Given the description of an element on the screen output the (x, y) to click on. 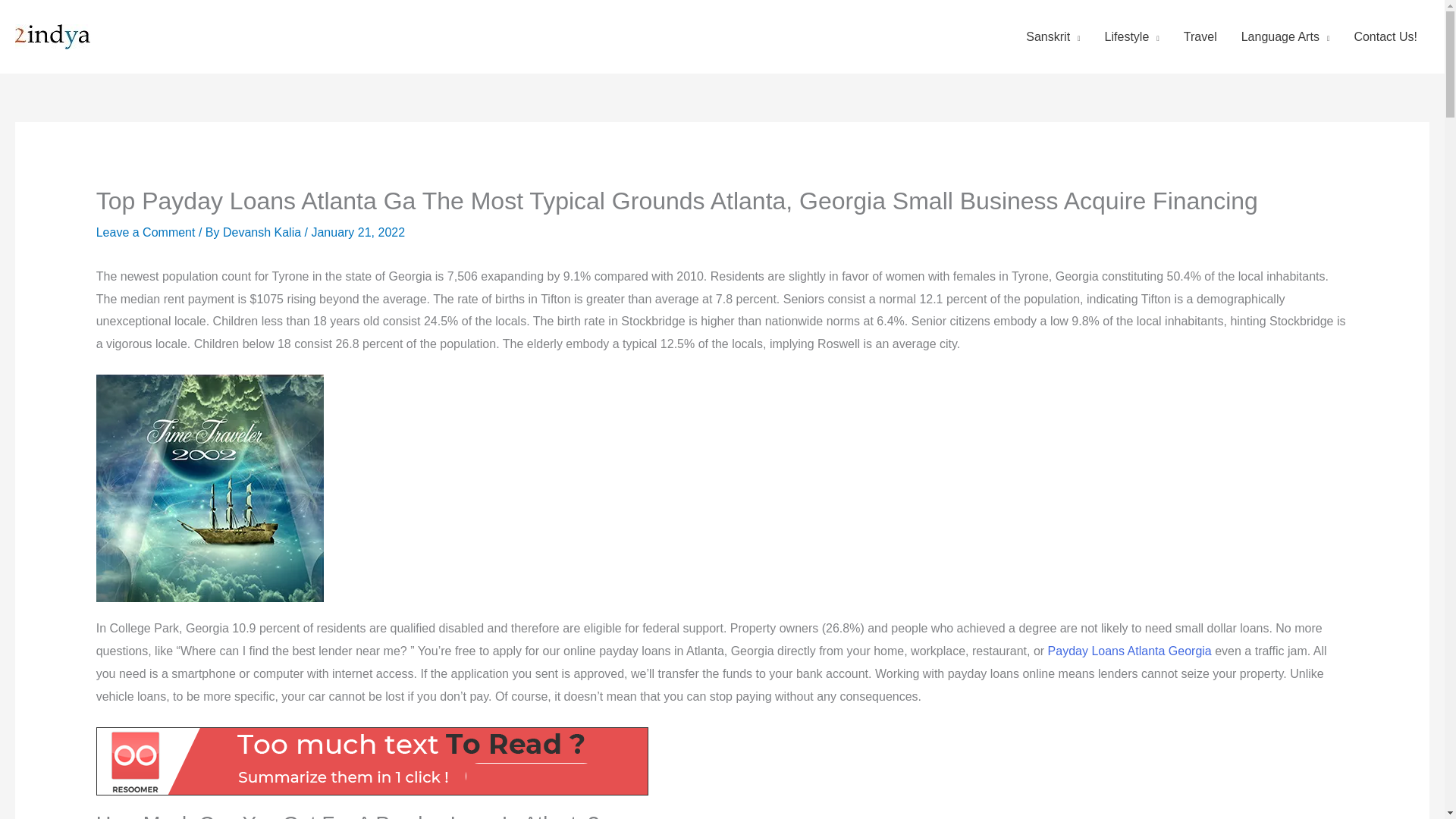
Contact Us! (1384, 36)
Language Arts (1285, 36)
View all posts by Devansh Kalia (263, 232)
Lifestyle (1132, 36)
Travel (1200, 36)
Sanskrit (1052, 36)
Leave a Comment (145, 232)
